Given the description of an element on the screen output the (x, y) to click on. 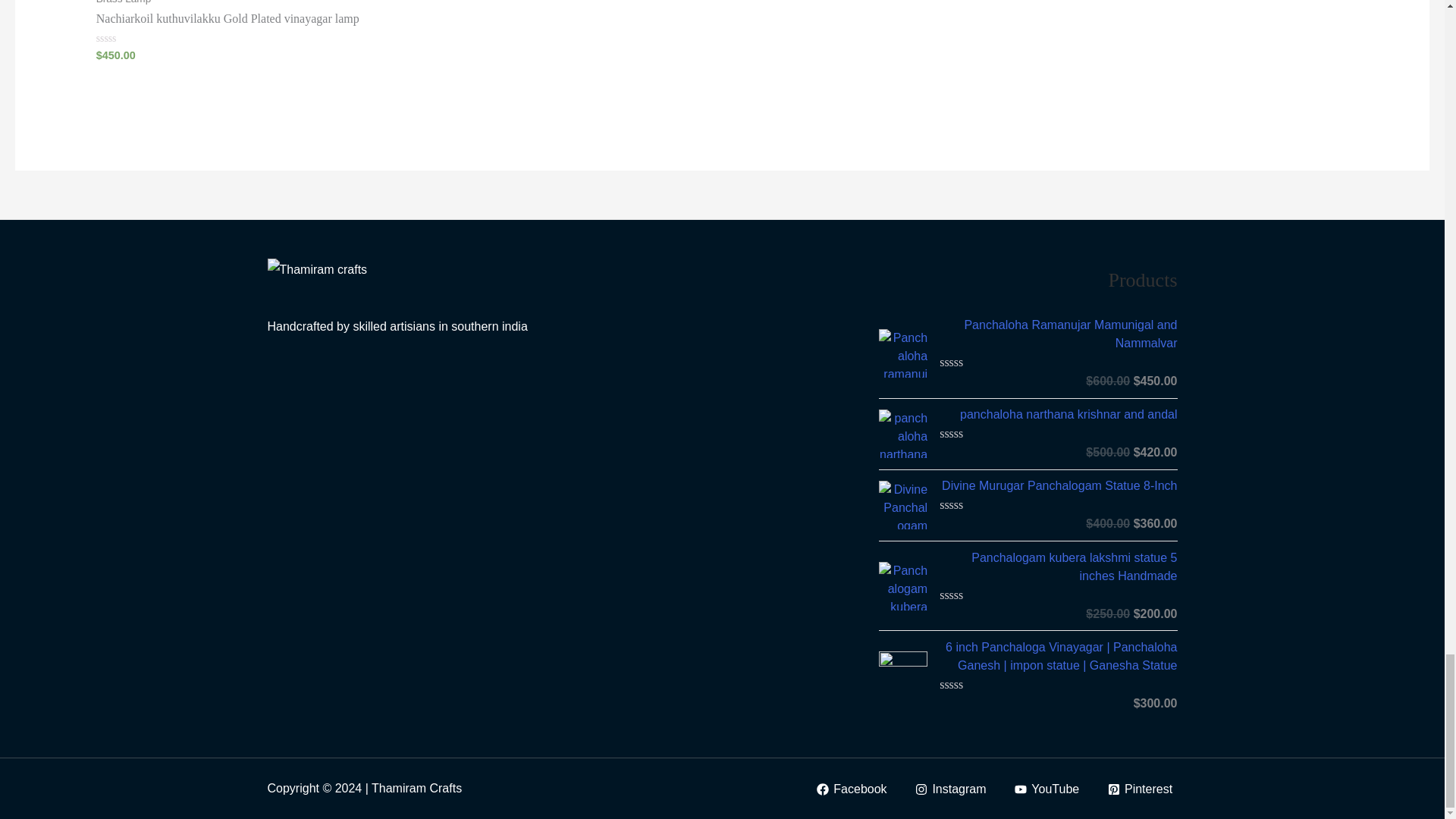
panchaloha narthana krishnar and andal (1057, 414)
Panchaloha Ramanujar Mamunigal and Nammalvar (1057, 334)
Nachiarkoil kuthuvilakku Gold Plated vinayagar lamp (246, 19)
Divine Murugar Panchalogam Statue 8-Inch (1057, 485)
